Given the description of an element on the screen output the (x, y) to click on. 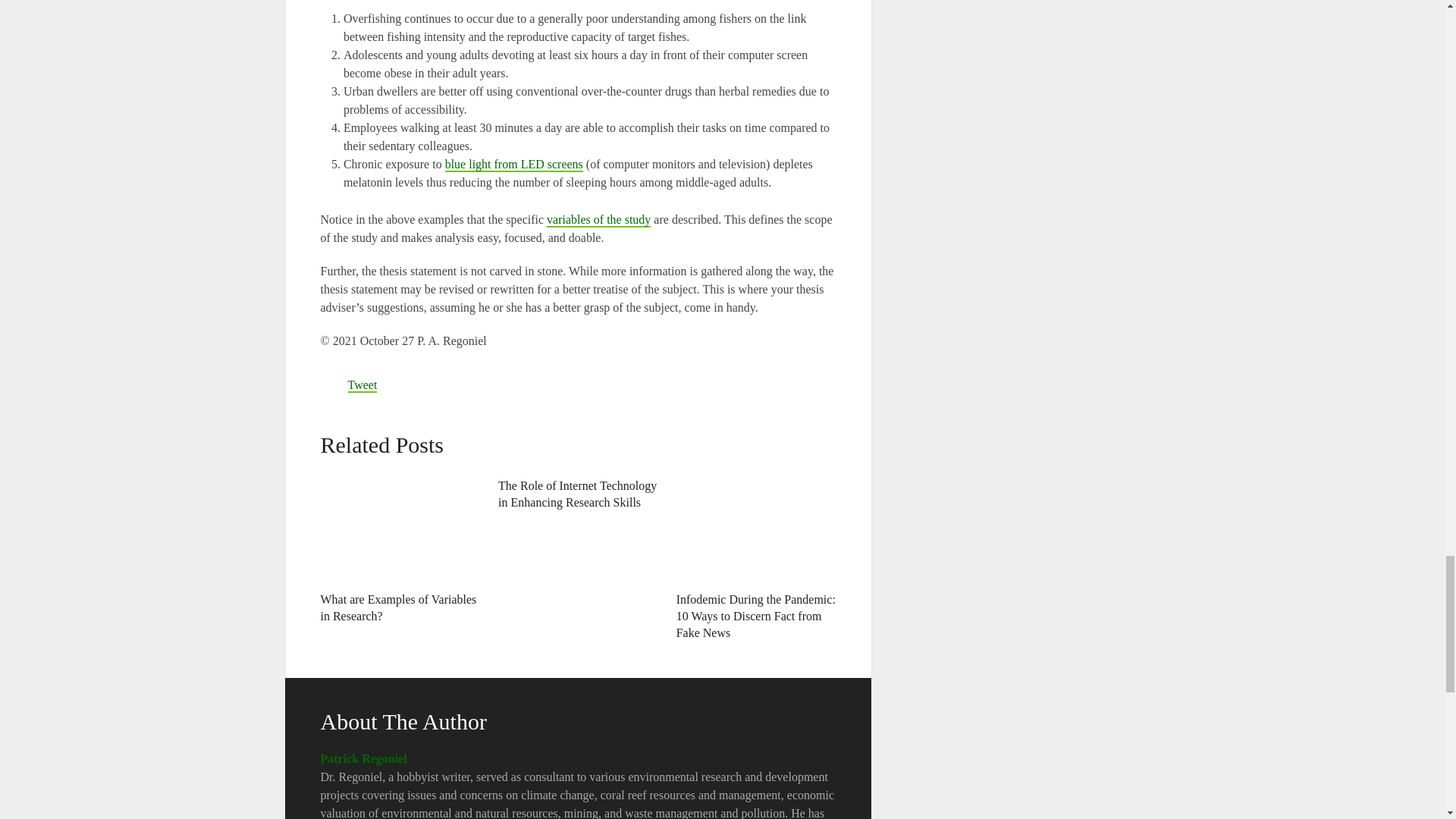
What are Examples of Variables in Research? (400, 526)
What are Examples of Variables in Research? (398, 607)
The Role of Internet Technology in Enhancing Research Skills (576, 493)
